Given the description of an element on the screen output the (x, y) to click on. 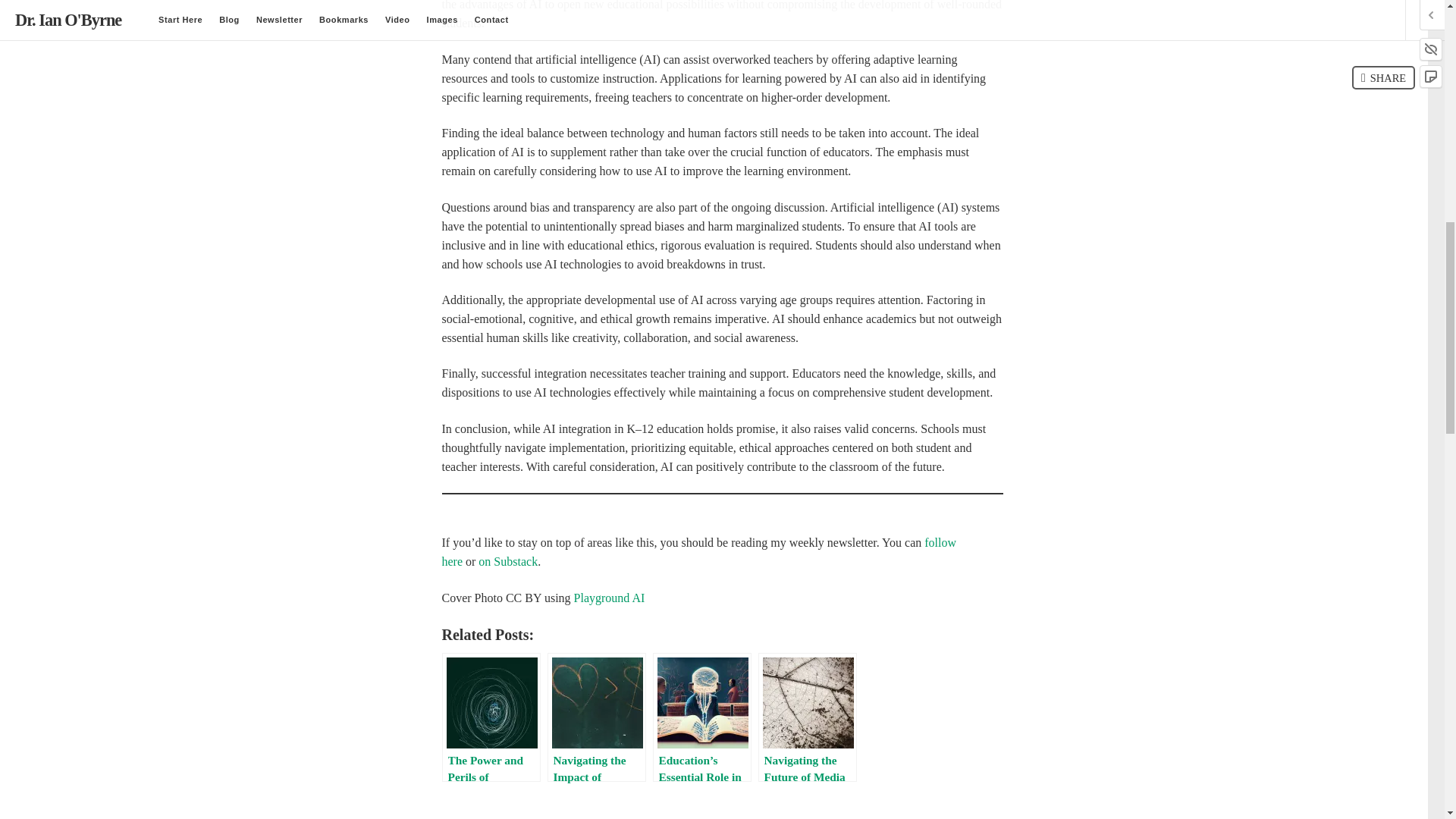
follow here (698, 552)
Playground AI (609, 597)
on Substack (508, 561)
